Given the description of an element on the screen output the (x, y) to click on. 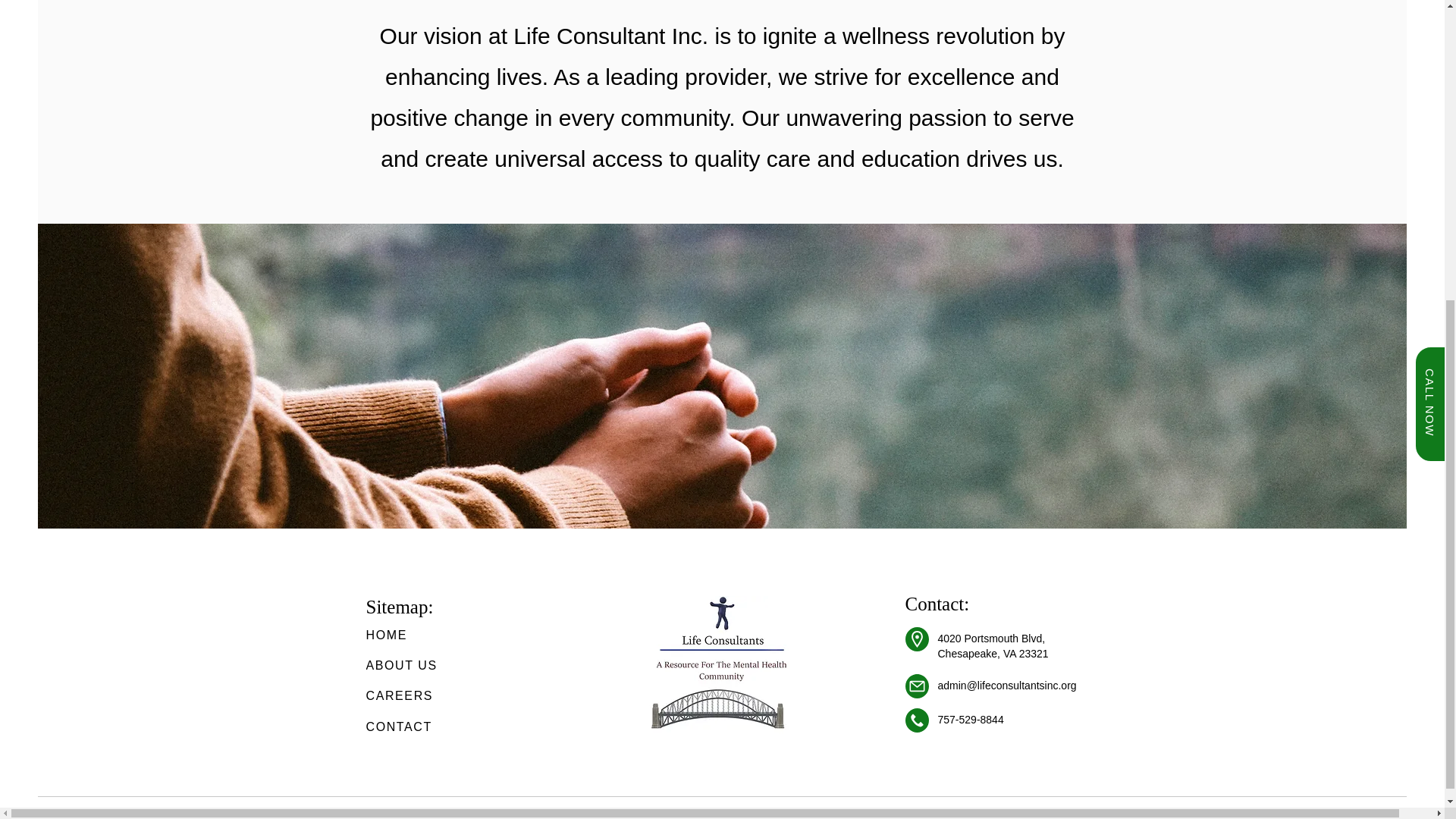
CONTACT (419, 726)
ABOUT US (419, 665)
CAREERS (419, 695)
HOME (419, 634)
